Given the description of an element on the screen output the (x, y) to click on. 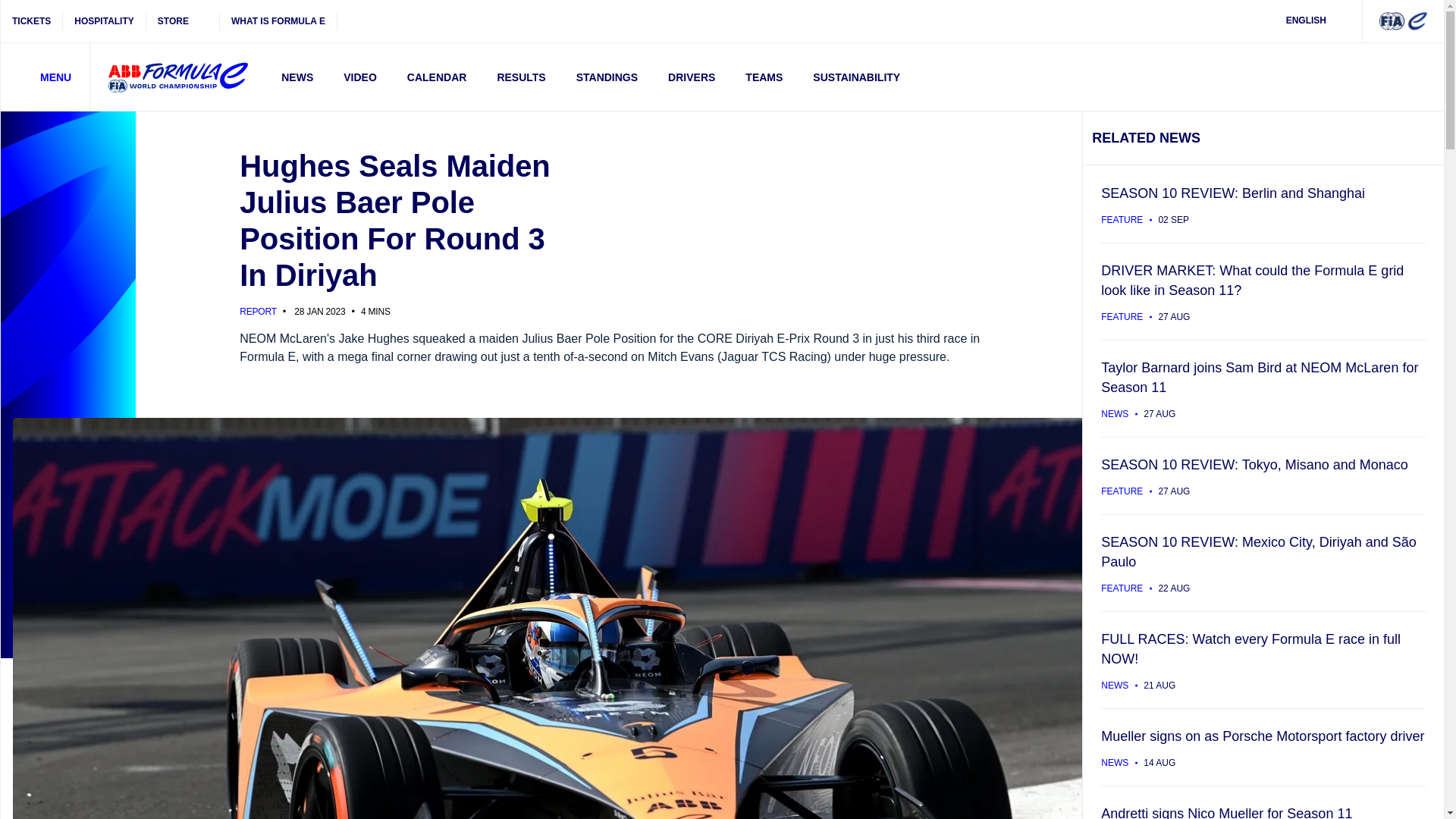
CALENDAR (436, 76)
ENGLISH (1316, 20)
WHAT IS FORMULA E (278, 21)
RESULTS (520, 76)
SUSTAINABILITY (856, 76)
TICKETS (31, 21)
SEASON 10 REVIEW: Tokyo, Misano and Monaco (1262, 475)
DRIVERS (691, 76)
Taylor Barnard joins Sam Bird at NEOM McLaren for Season 11 (1262, 387)
HOSPITALITY (103, 21)
